Given the description of an element on the screen output the (x, y) to click on. 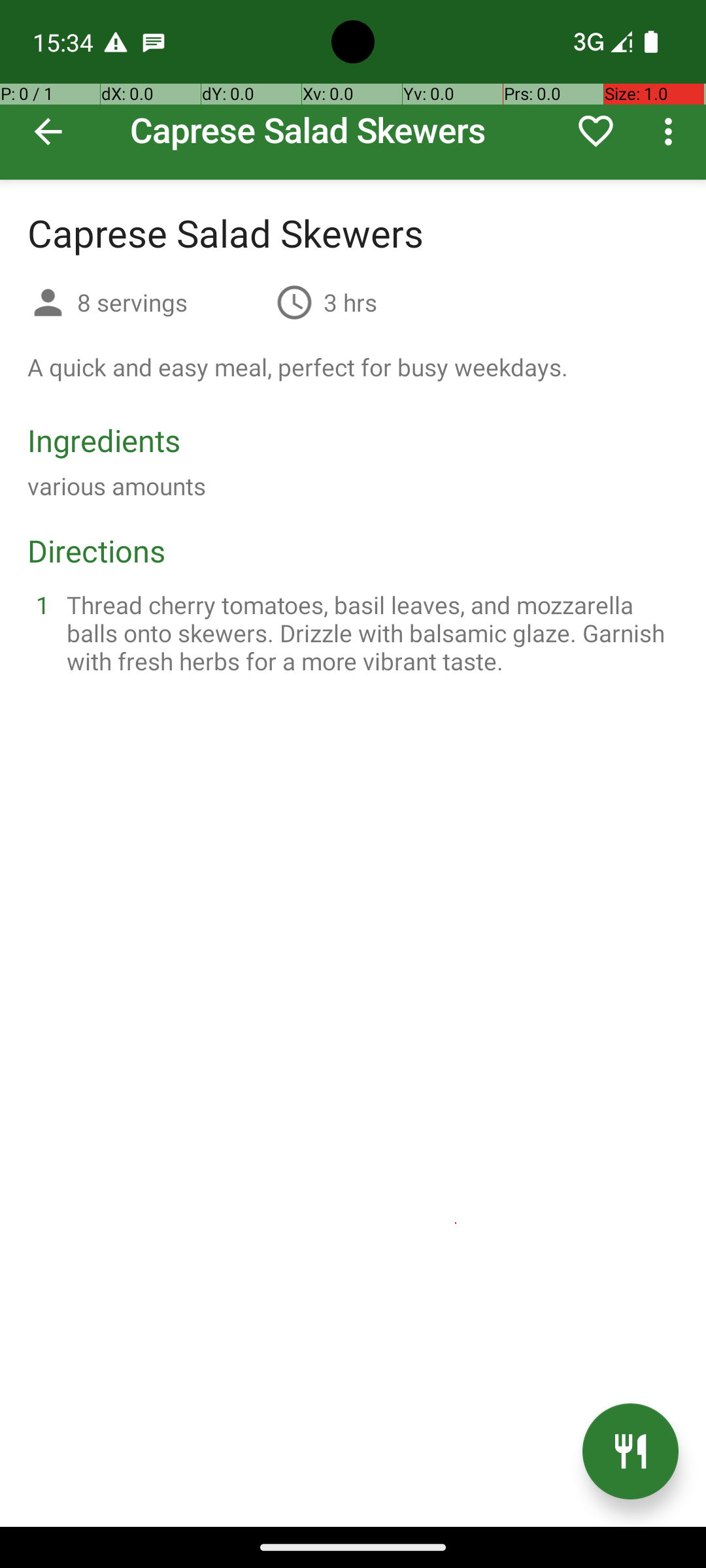
Caprese Salad Skewers Element type: android.widget.FrameLayout (353, 89)
Mark as favorite Element type: android.widget.Button (595, 131)
8 servings Element type: android.widget.TextView (170, 301)
3 hrs Element type: android.widget.TextView (350, 301)
various amounts Element type: android.widget.TextView (116, 485)
Thread cherry tomatoes, basil leaves, and mozzarella balls onto skewers. Drizzle with balsamic glaze. Garnish with fresh herbs for a more vibrant taste. Element type: android.widget.TextView (368, 632)
